Given the description of an element on the screen output the (x, y) to click on. 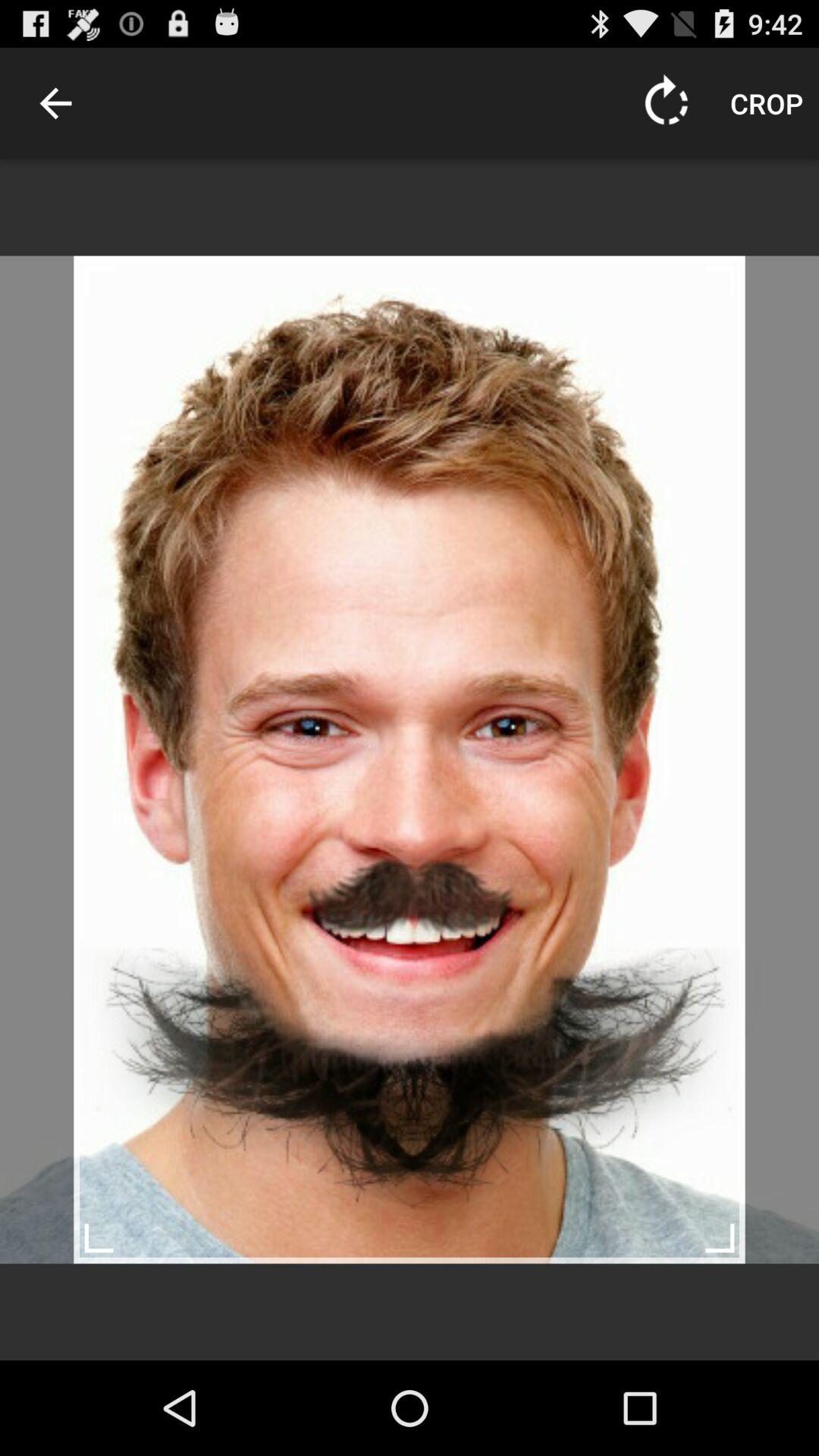
jump until the crop icon (766, 103)
